Given the description of an element on the screen output the (x, y) to click on. 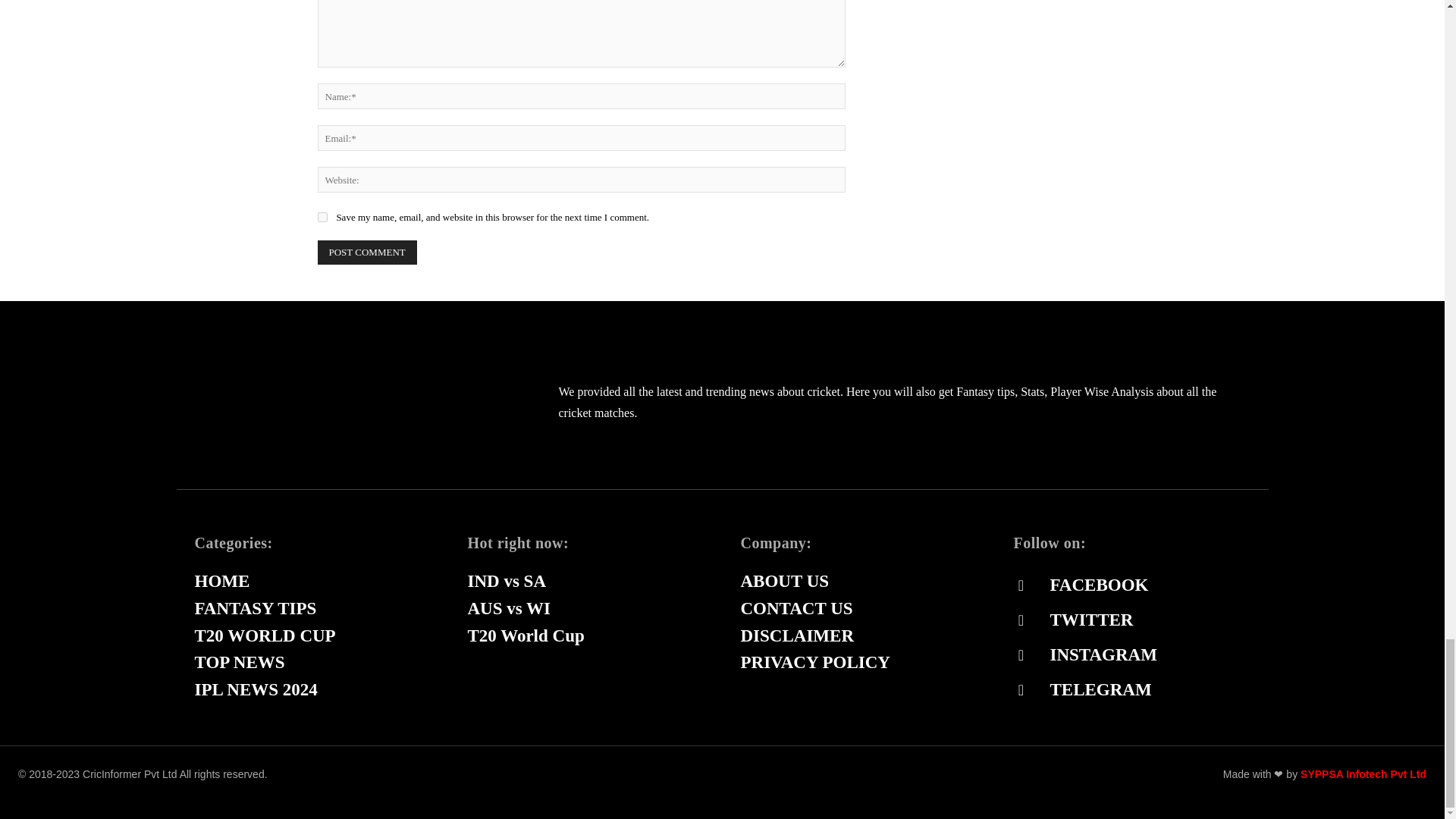
yes (321, 216)
Post Comment (366, 252)
